Given the description of an element on the screen output the (x, y) to click on. 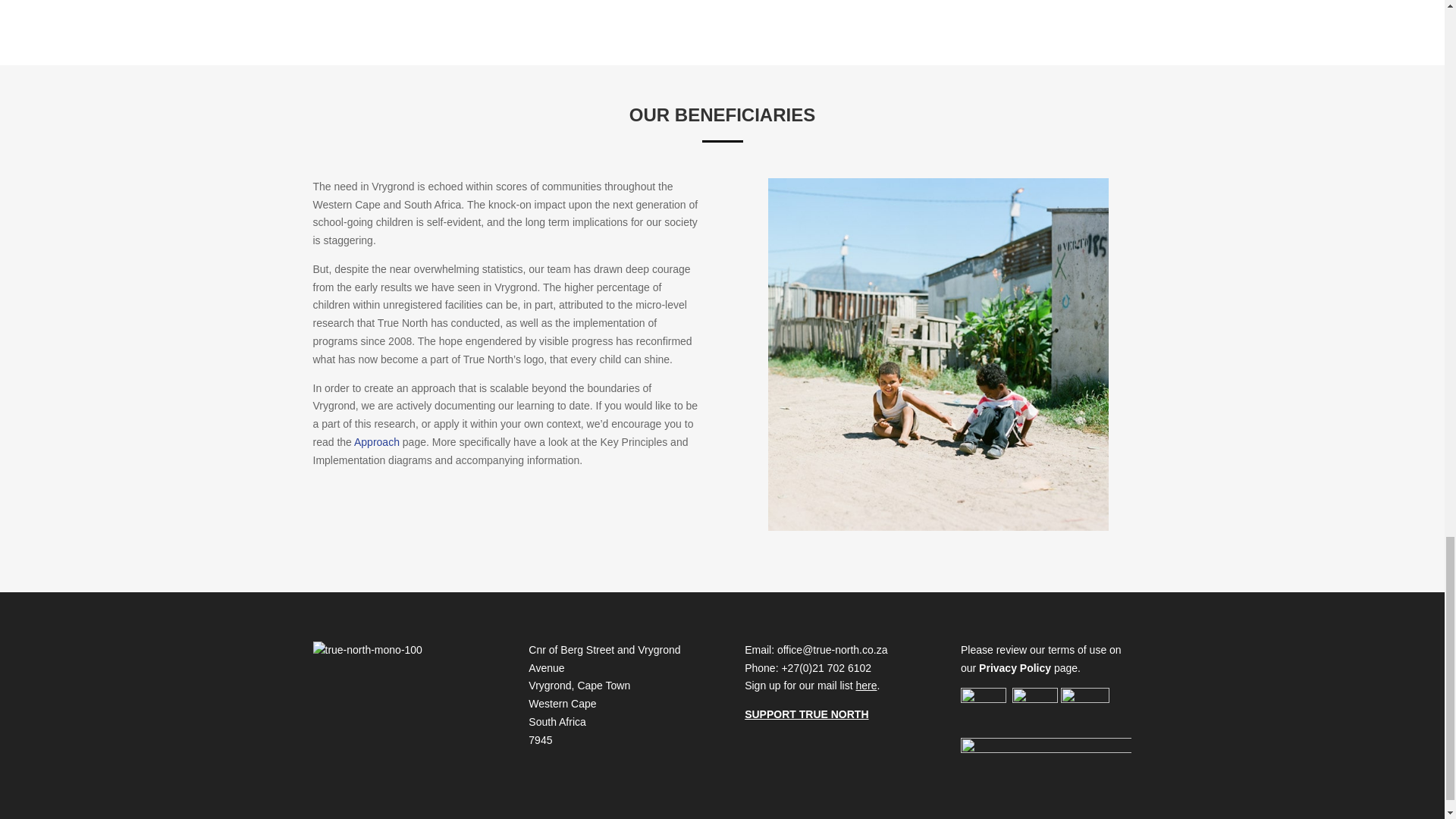
Support (805, 714)
Privacy Policy (1014, 667)
 here. (866, 685)
Mail List (866, 685)
SUPPORT TRUE NORTH (805, 714)
Approach (375, 441)
